Given the description of an element on the screen output the (x, y) to click on. 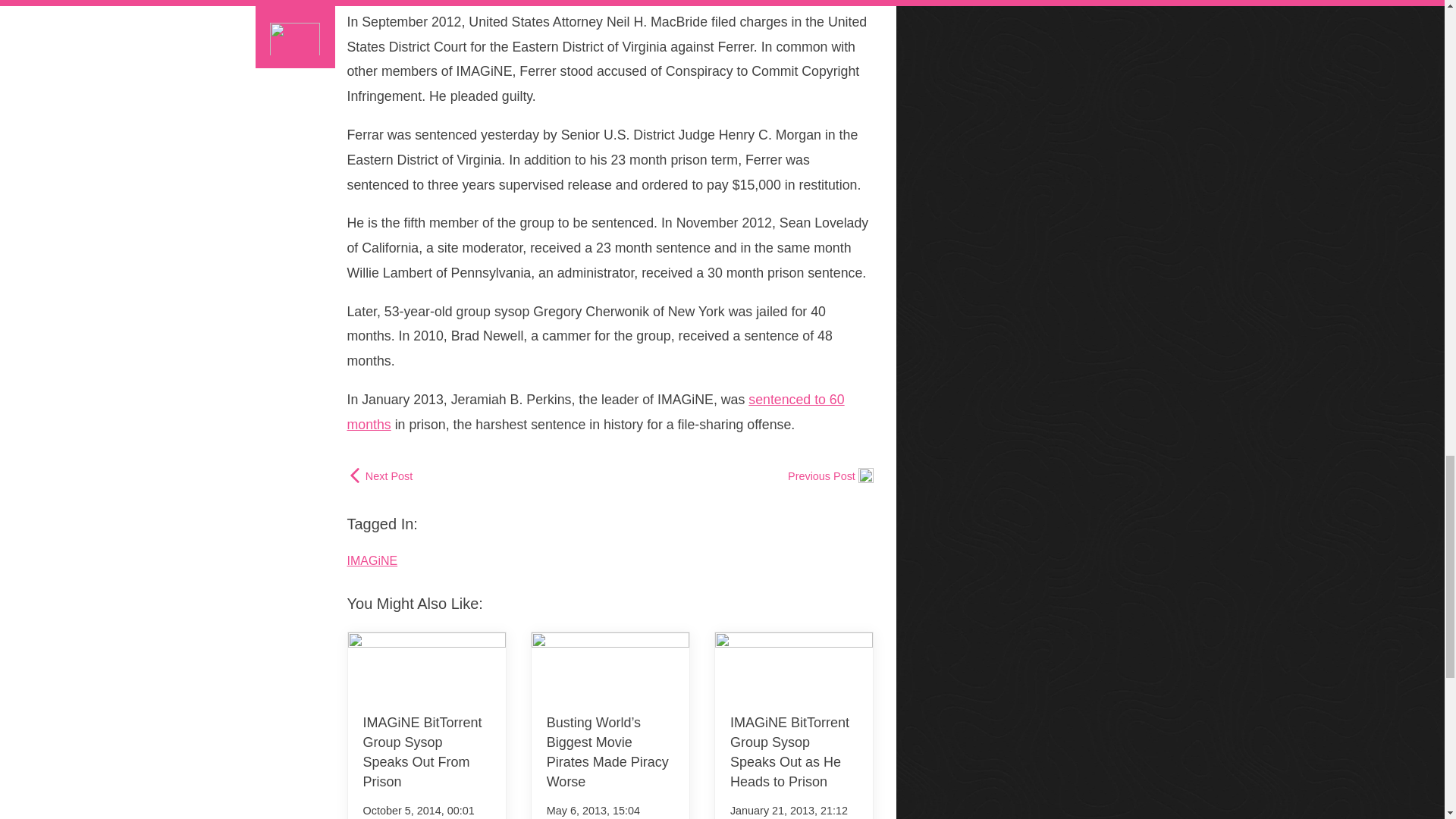
sentenced to 60 months (595, 412)
Previous Post (830, 475)
IMAGiNE (372, 560)
Next Post (380, 475)
